Given the description of an element on the screen output the (x, y) to click on. 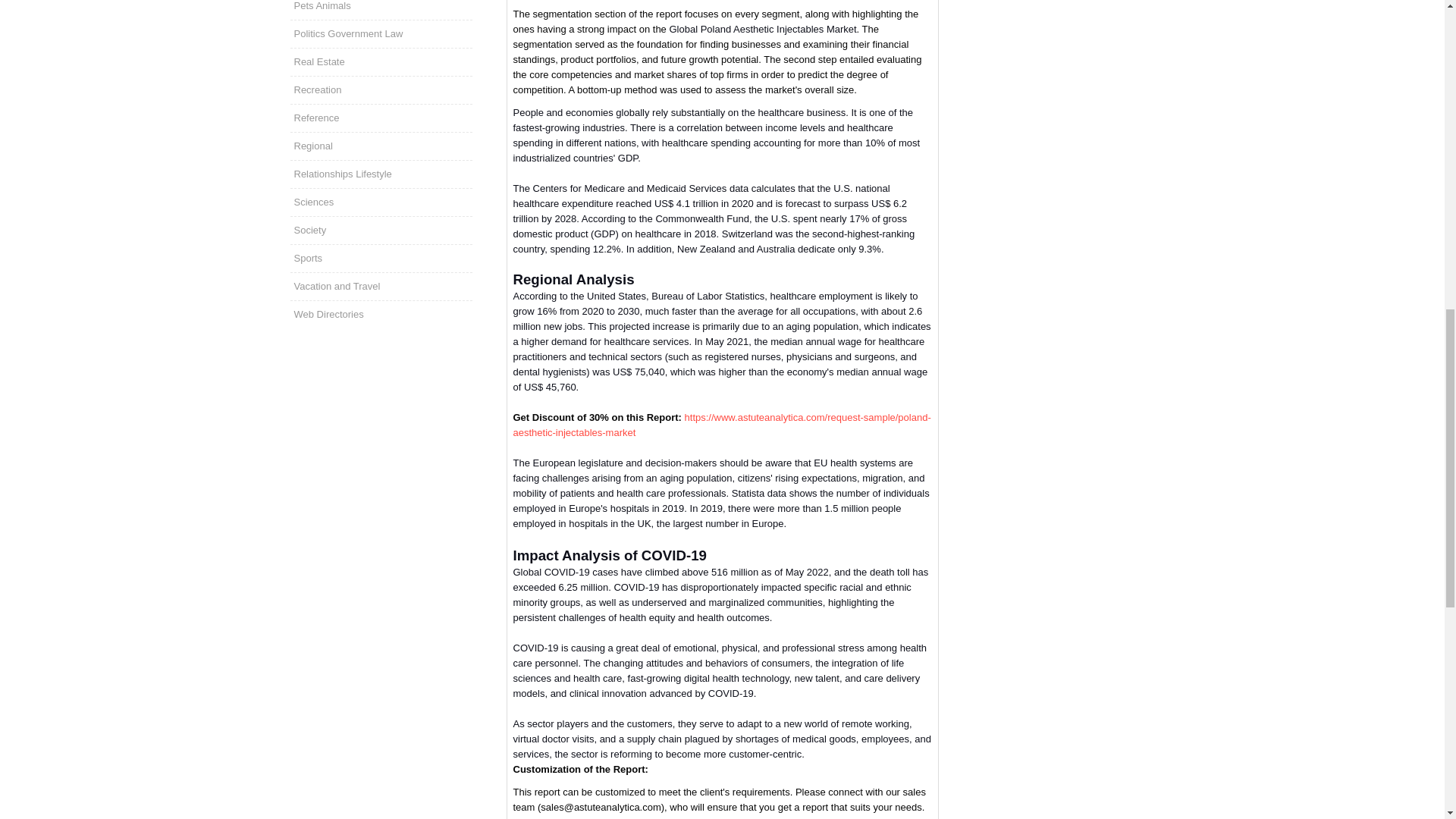
Regional (381, 145)
Recreation (381, 90)
Vacation and Travel (381, 286)
Politics Government Law (381, 33)
Pets Animals (381, 9)
Sciences (381, 202)
Real Estate (381, 62)
Society (381, 230)
Sports (381, 257)
Reference (381, 117)
Web Directories (381, 314)
Relationships Lifestyle (381, 174)
